Given the description of an element on the screen output the (x, y) to click on. 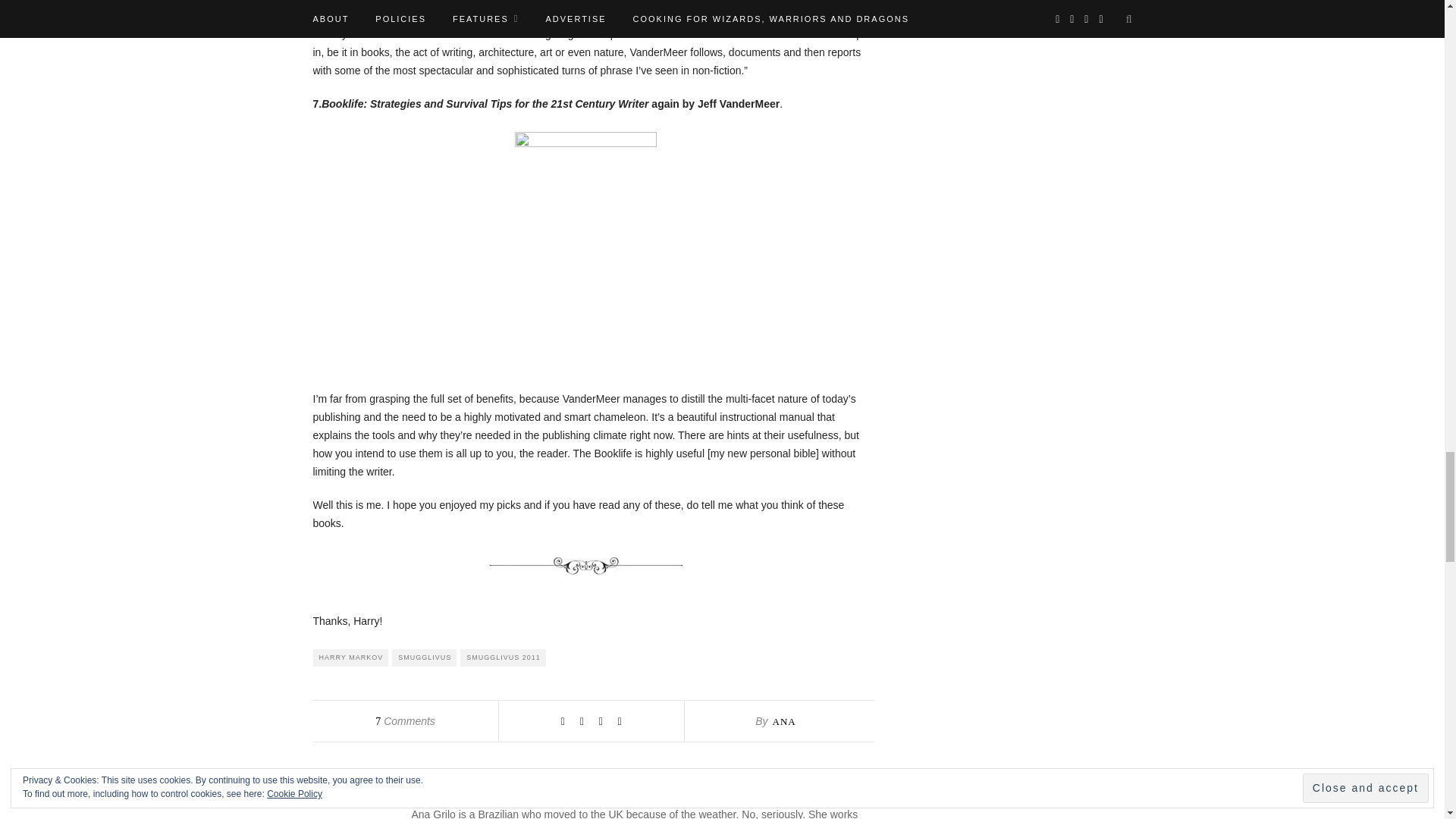
SMUGGLIVUS 2011 (503, 657)
SMUGGLIVUS (424, 657)
HARRY MARKOV (350, 657)
7 Comments (405, 720)
Posts by Ana (782, 721)
